Given the description of an element on the screen output the (x, y) to click on. 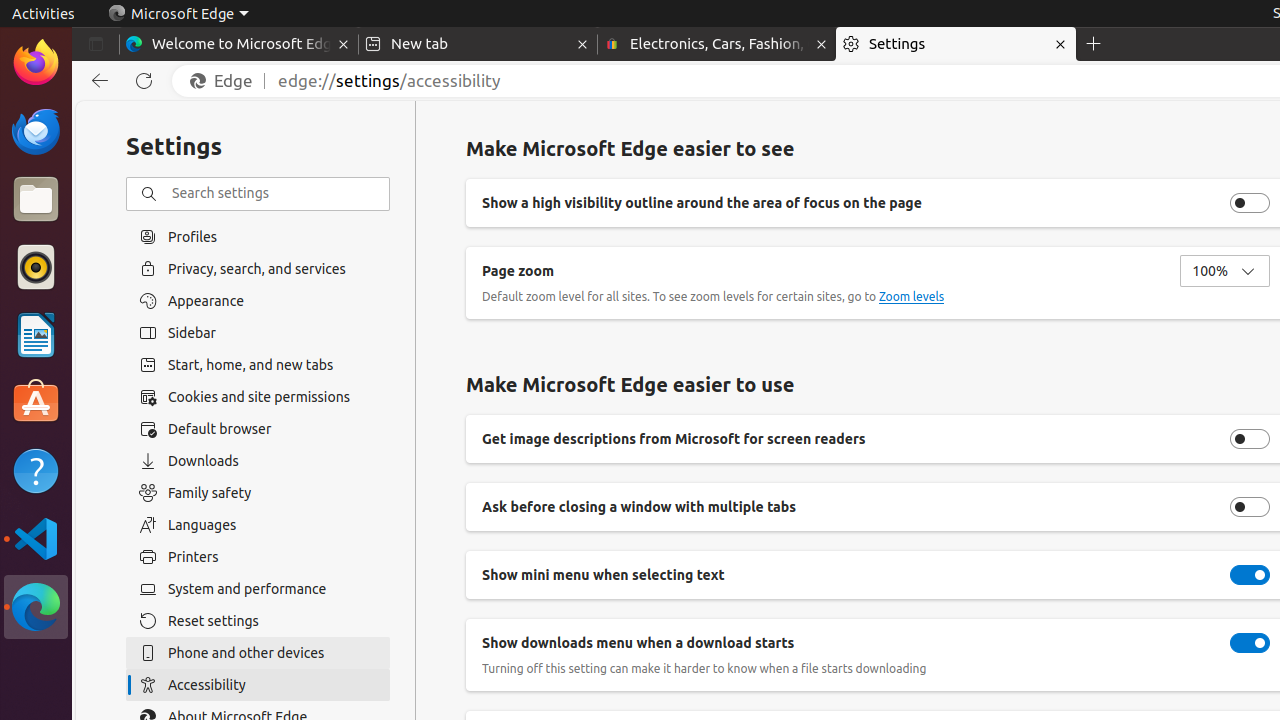
System and performance Element type: tree-item (258, 589)
Default browser Element type: tree-item (258, 429)
Files Element type: push-button (36, 199)
Accessibility Element type: tree-item (258, 685)
Profiles Element type: tree-item (258, 236)
